Given the description of an element on the screen output the (x, y) to click on. 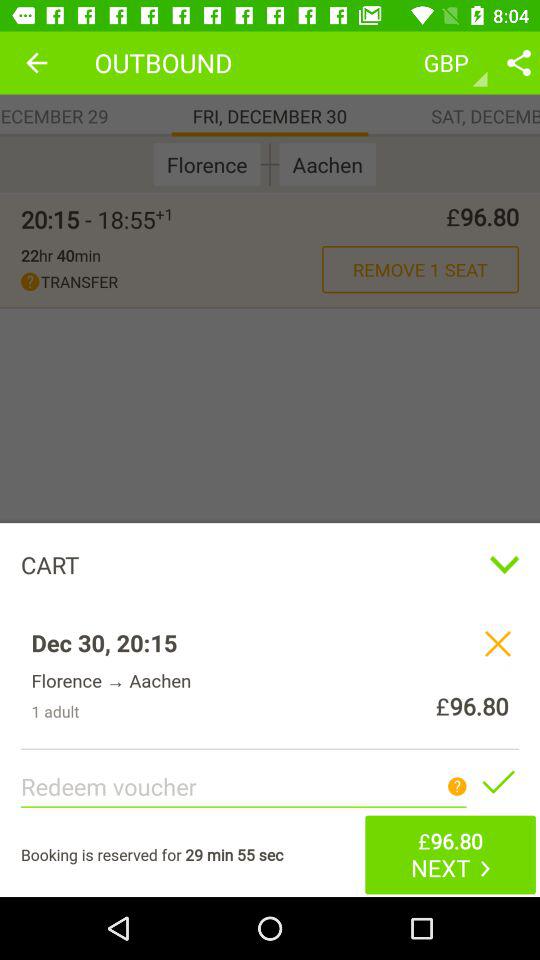
click on cross mark (497, 644)
select tick mark above next option (497, 781)
click on orange colour text next to transfer (419, 268)
